Given the description of an element on the screen output the (x, y) to click on. 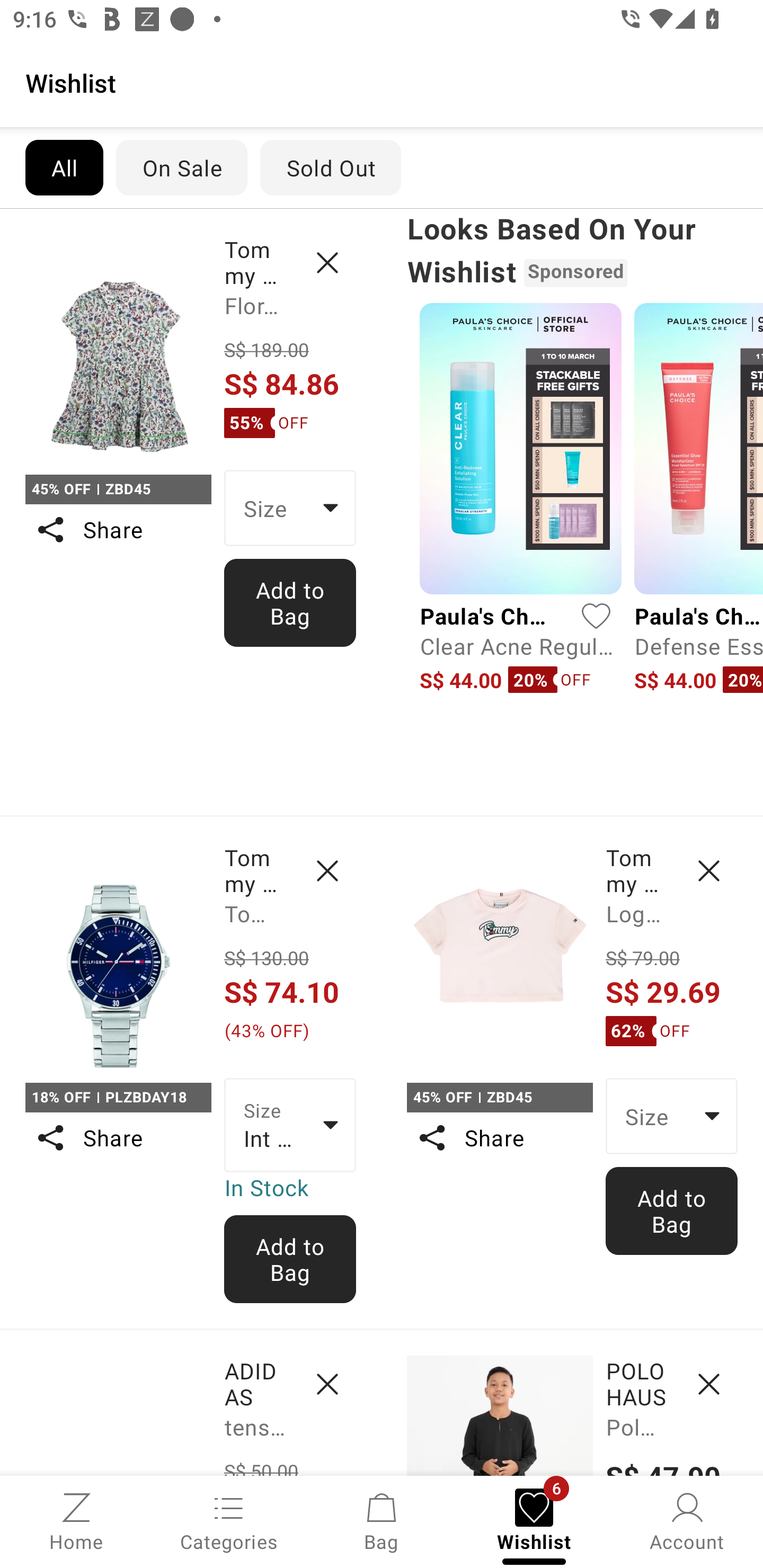
Wishlist (381, 82)
All (64, 167)
On Sale (181, 167)
Sold Out (330, 167)
Size (290, 507)
Share (118, 529)
Add to Bag (290, 602)
Size Int One Size (290, 1125)
Size (671, 1116)
Share (118, 1137)
Share (499, 1137)
Add to Bag (671, 1210)
Add to Bag (290, 1259)
Home (76, 1519)
Categories (228, 1519)
Bag (381, 1519)
Account (686, 1519)
